Given the description of an element on the screen output the (x, y) to click on. 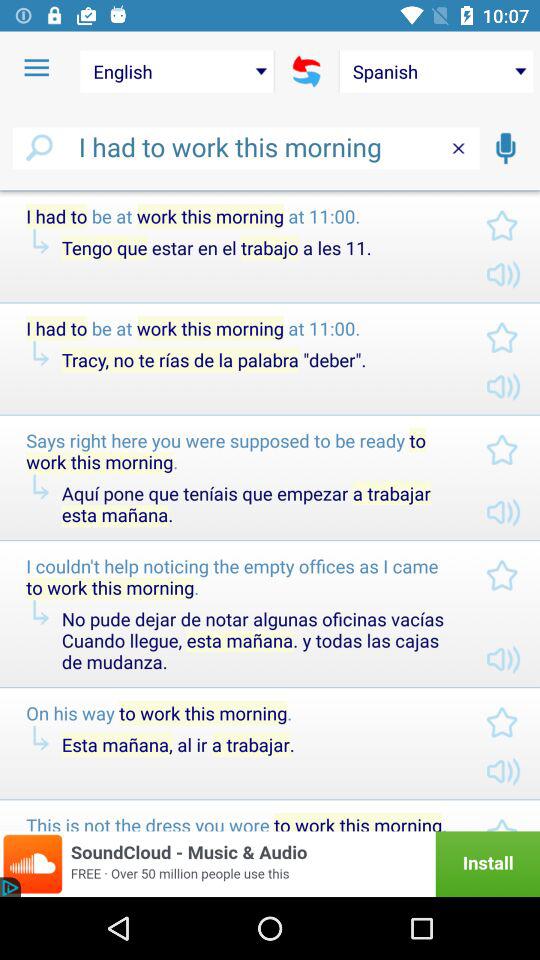
turn off the this is not item (239, 822)
